Given the description of an element on the screen output the (x, y) to click on. 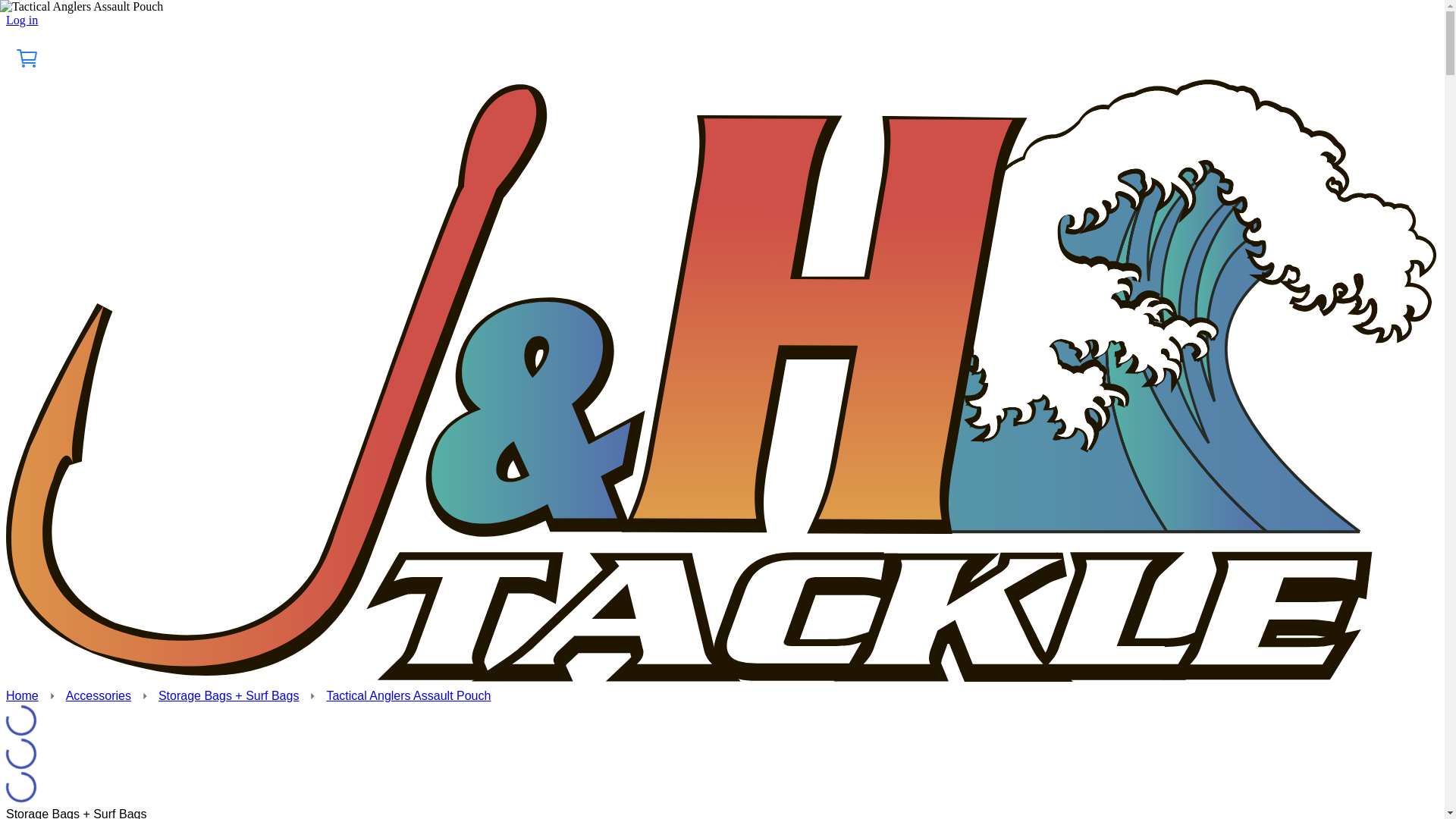
Help (63, 20)
Log in (21, 19)
Home (22, 695)
Accessories (98, 695)
Tactical Anglers Assault Pouch (408, 695)
